Given the description of an element on the screen output the (x, y) to click on. 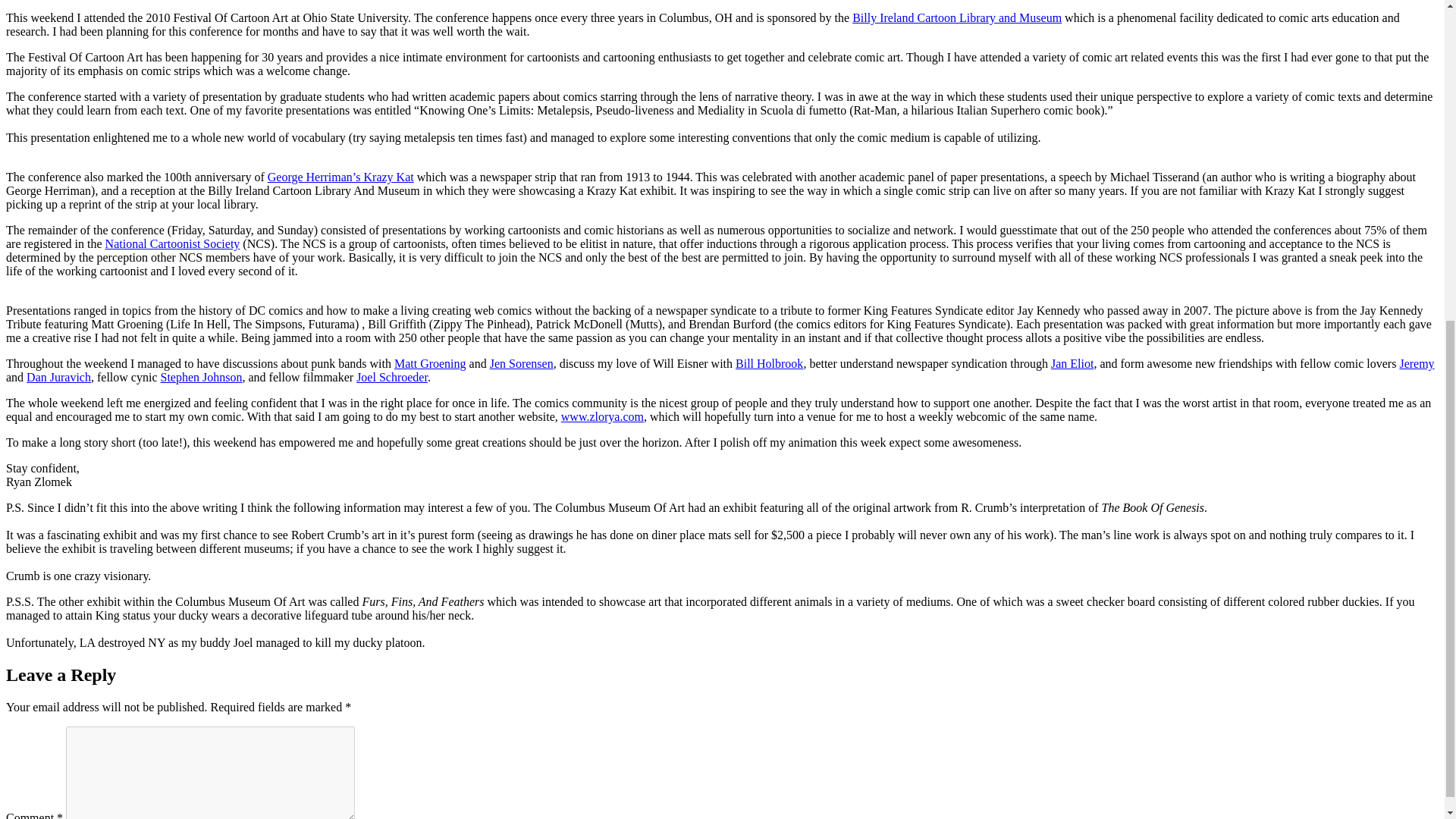
Billy Ireland Cartoon Library and Museum (956, 17)
Dan Juravich (58, 377)
Jen Sorensen (521, 363)
Joel Schroeder (392, 377)
Bill Holbrook (769, 363)
Matt Groening (429, 363)
National Cartoonist Society (172, 243)
www.zlorya.com (601, 416)
Jan Eliot (1072, 363)
Stephen Johnson (201, 377)
